Given the description of an element on the screen output the (x, y) to click on. 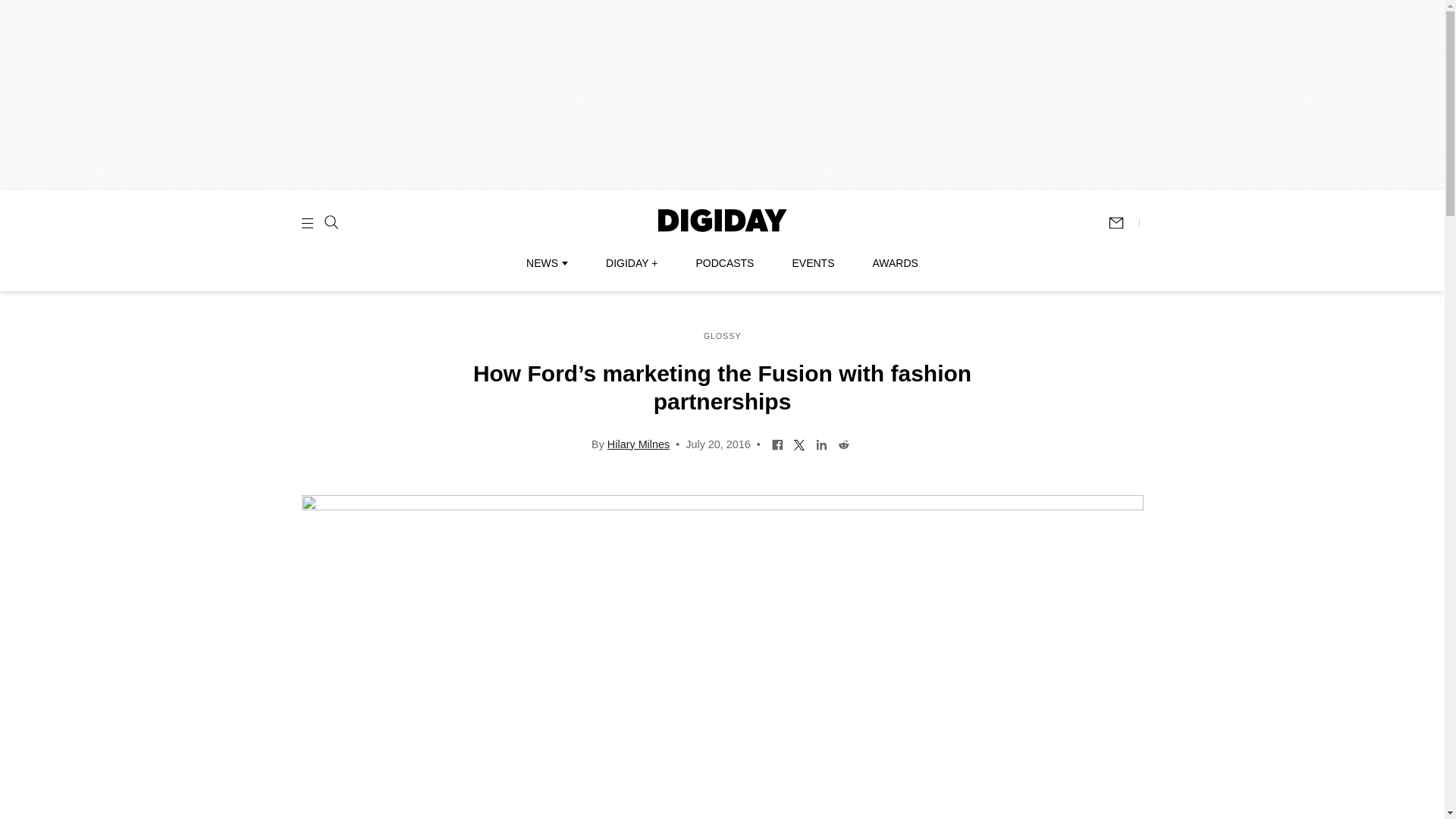
Share on Twitter (799, 443)
PODCASTS (725, 262)
Share on LinkedIn (821, 443)
EVENTS (813, 262)
Subscribe (1123, 223)
AWARDS (894, 262)
Share on Facebook (777, 443)
NEWS (546, 262)
Share on Reddit (843, 443)
